Given the description of an element on the screen output the (x, y) to click on. 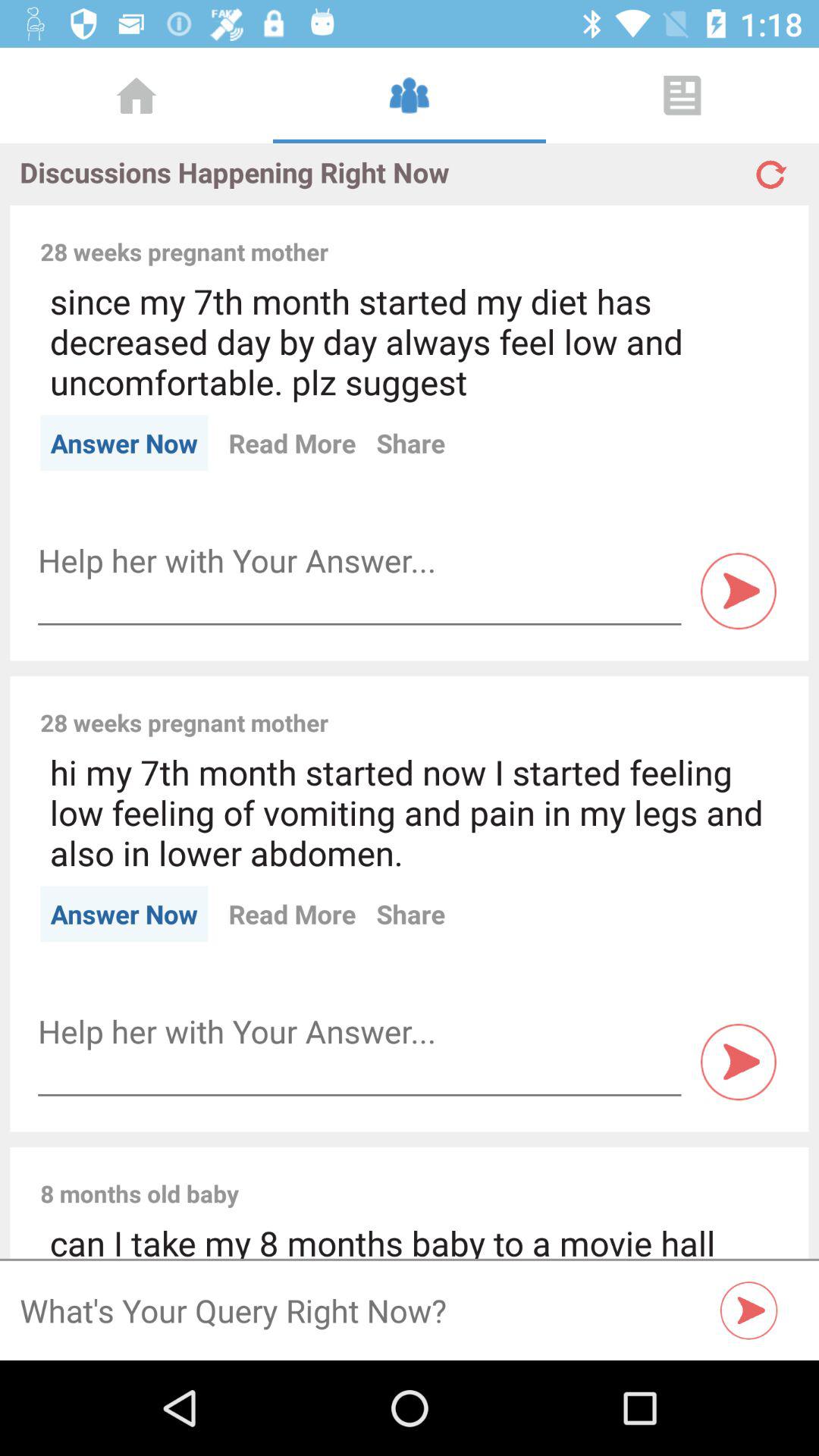
next (738, 1061)
